Given the description of an element on the screen output the (x, y) to click on. 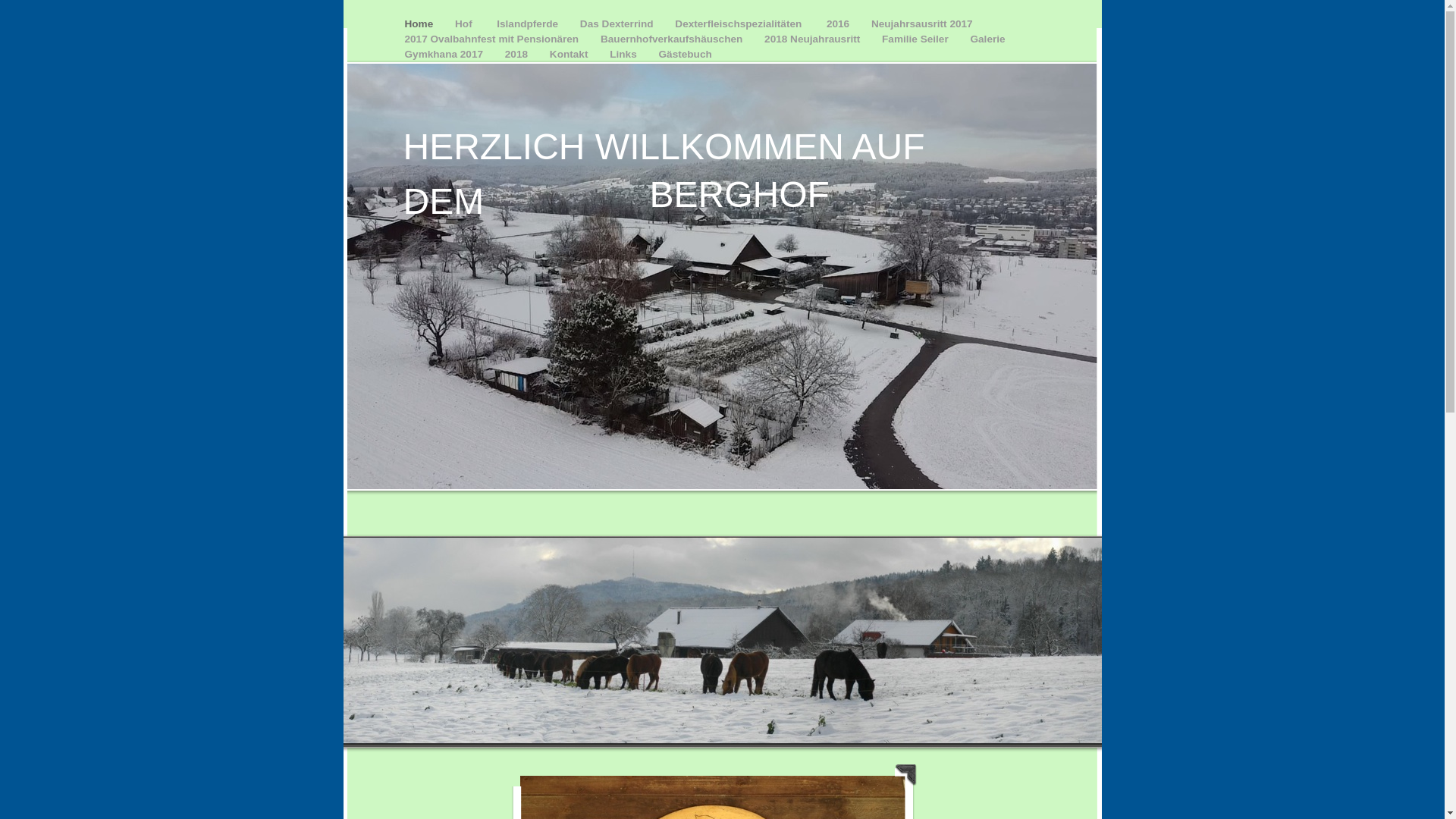
2018 Neujahrausritt Element type: text (813, 38)
Gymkhana 2017 Element type: text (445, 53)
2016 Element type: text (839, 23)
Home Element type: text (420, 23)
Links Element type: text (624, 53)
Kontakt Element type: text (569, 53)
Familie Seiler Element type: text (915, 38)
Neujahrsausritt 2017 Element type: text (921, 23)
Islandpferde Element type: text (528, 23)
2018 Element type: text (517, 53)
Hof  Element type: text (466, 23)
Galerie Element type: text (986, 38)
Das Dexterrind Element type: text (617, 23)
